Given the description of an element on the screen output the (x, y) to click on. 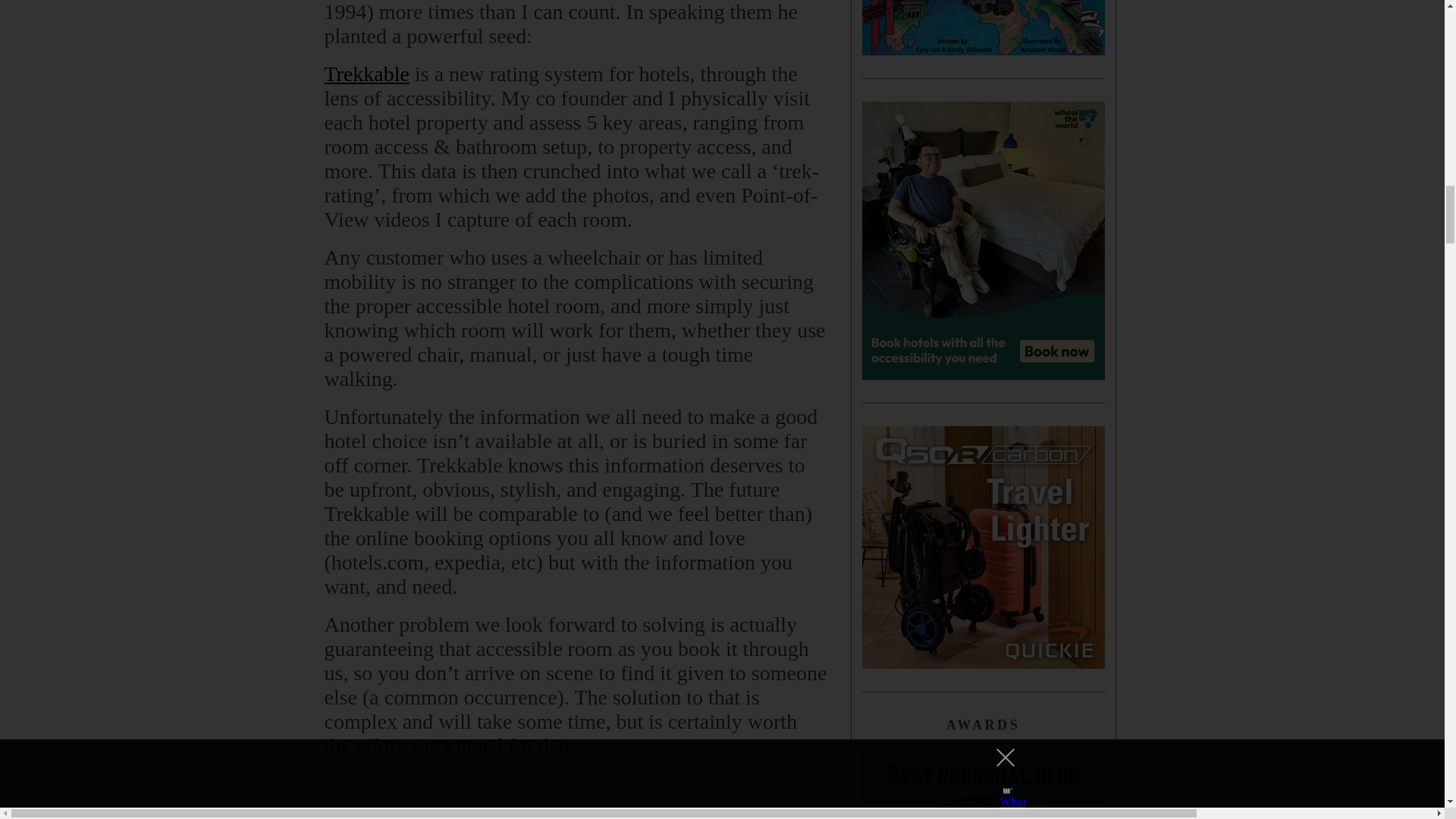
3rd party ad content (576, 811)
